Given the description of an element on the screen output the (x, y) to click on. 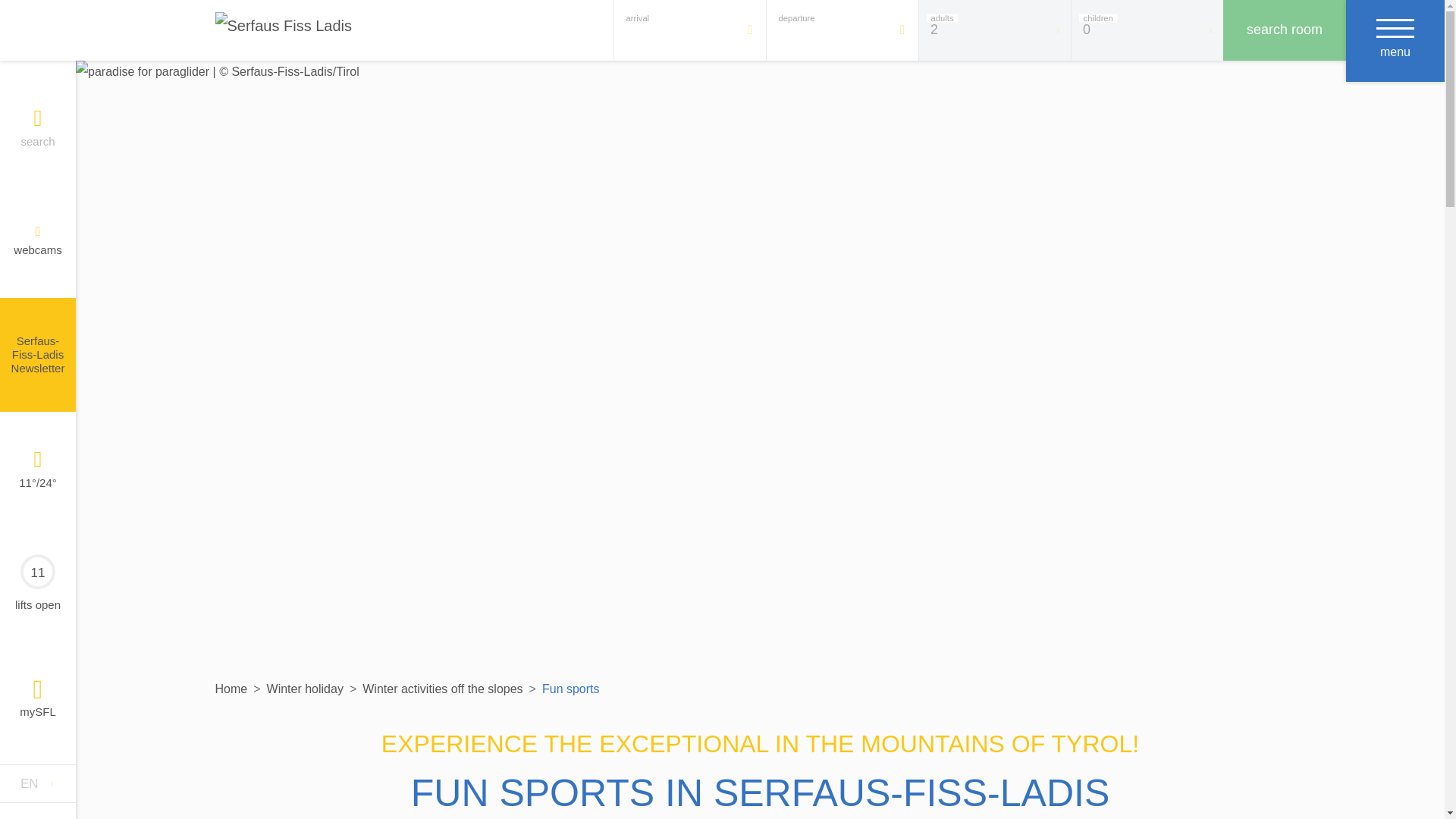
webcams (37, 231)
weather (37, 458)
Winter holiday (304, 688)
Winter activities off the slopes (442, 688)
search room (1284, 30)
Home (231, 688)
EN (37, 783)
